Given the description of an element on the screen output the (x, y) to click on. 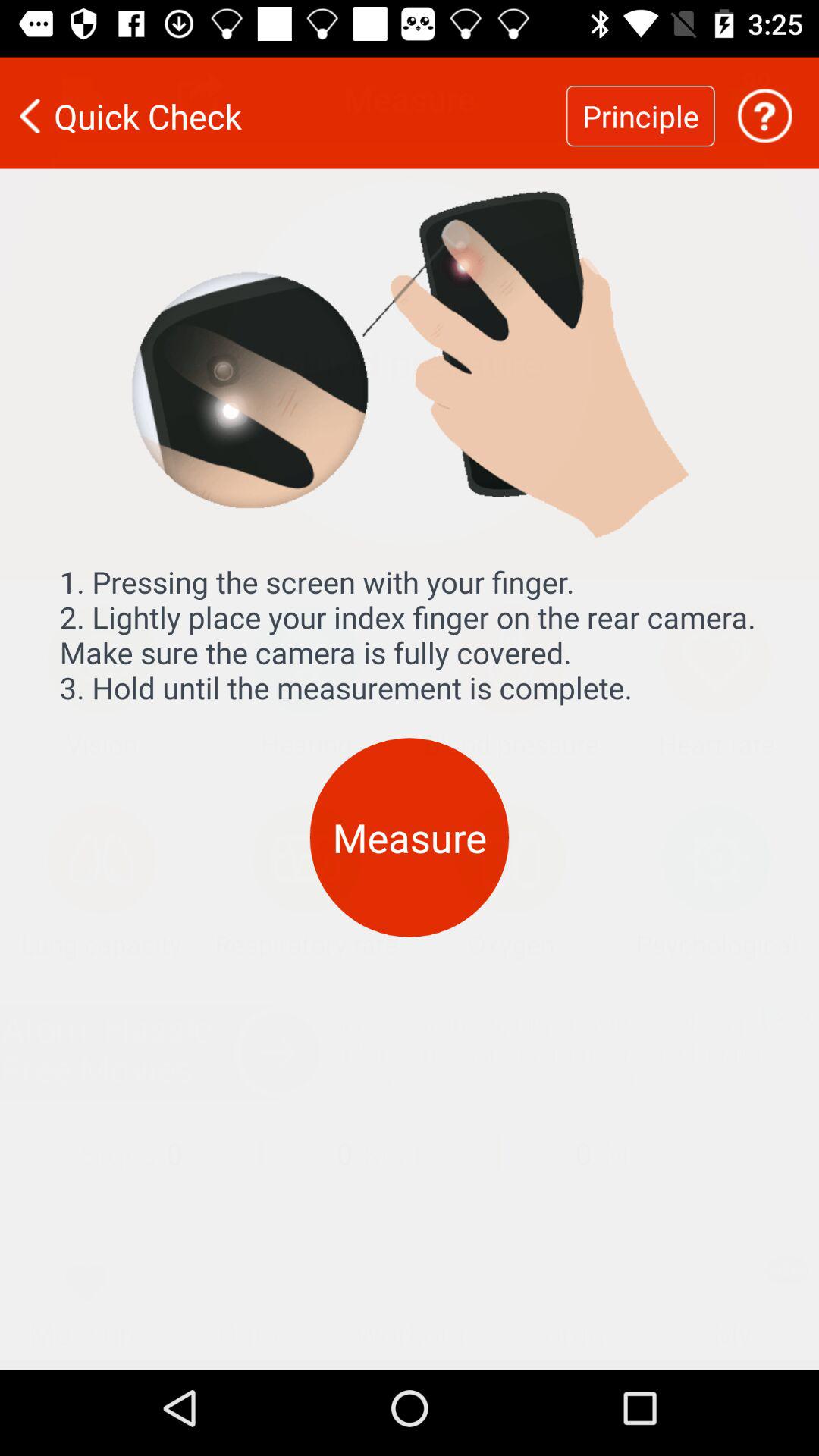
press the principle (640, 106)
